Given the description of an element on the screen output the (x, y) to click on. 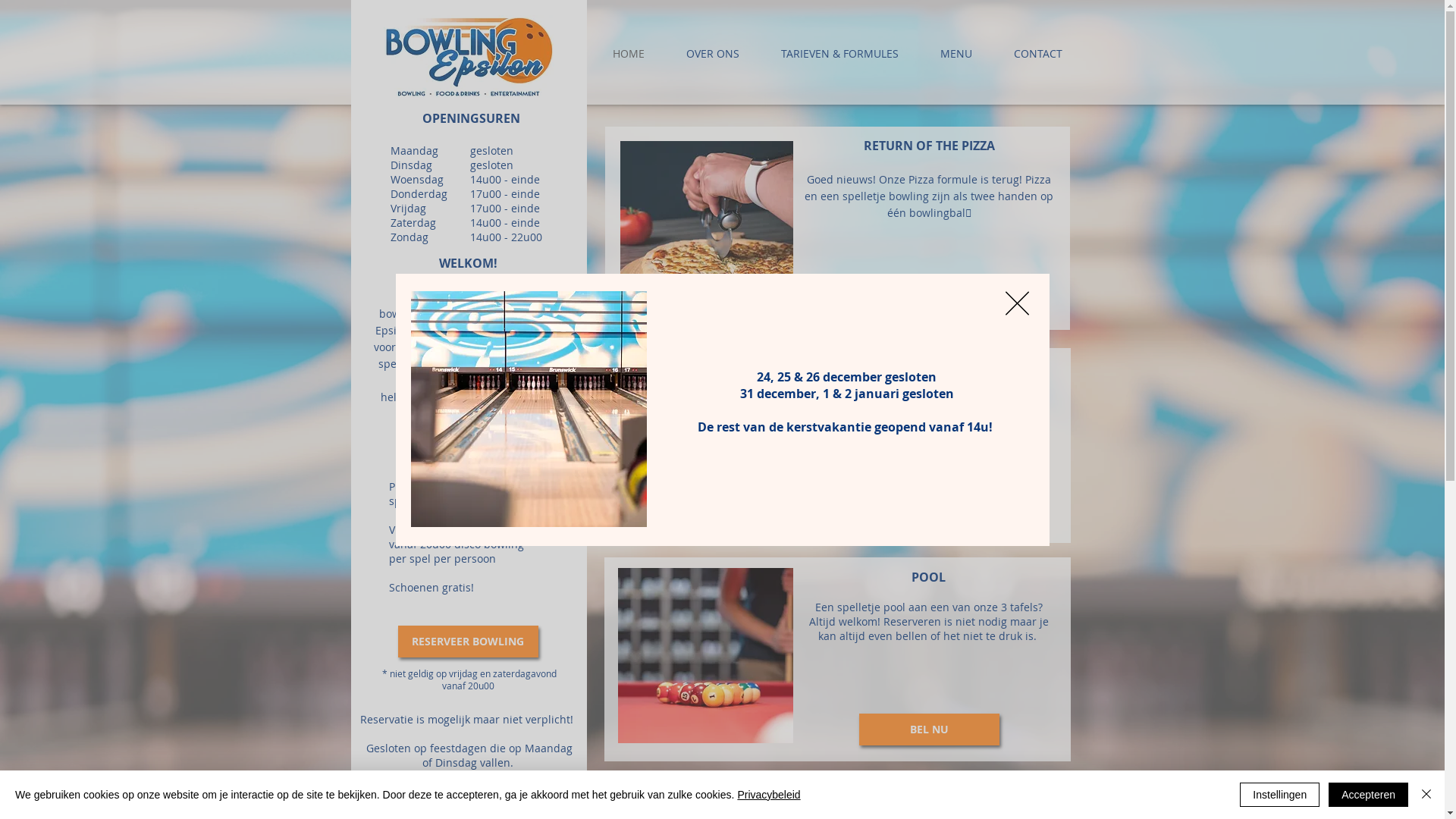
RESERVEER NU Element type: text (928, 297)
HOME Element type: text (628, 53)
MENU Element type: text (955, 53)
Accepteren Element type: text (1368, 794)
Instellingen Element type: text (1279, 794)
OVER ONS Element type: text (712, 53)
Privacybeleid Element type: text (768, 794)
RESERVEER NU Element type: text (934, 492)
RESERVEER BOWLING Element type: text (467, 641)
92250a_a474515ac1ed4f439b93566fe2f52731~mv2.png Element type: hover (706, 227)
Terug naar de website Element type: hover (1017, 303)
CONTACT Element type: text (1037, 53)
BEL NU Element type: text (928, 729)
hier Element type: text (909, 440)
TARIEVEN & FORMULES Element type: text (839, 53)
